Given the description of an element on the screen output the (x, y) to click on. 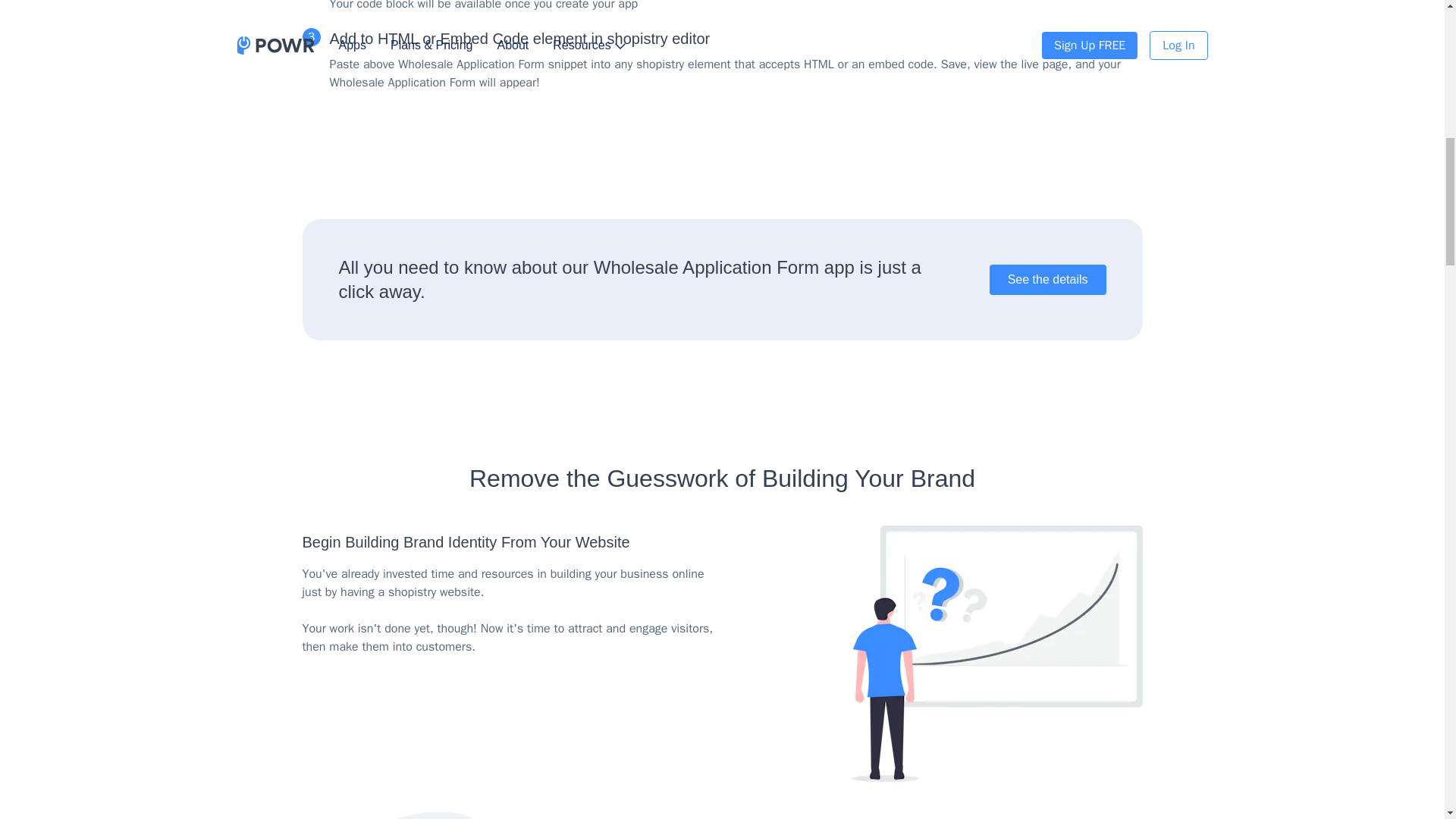
See the details (1048, 279)
